Given the description of an element on the screen output the (x, y) to click on. 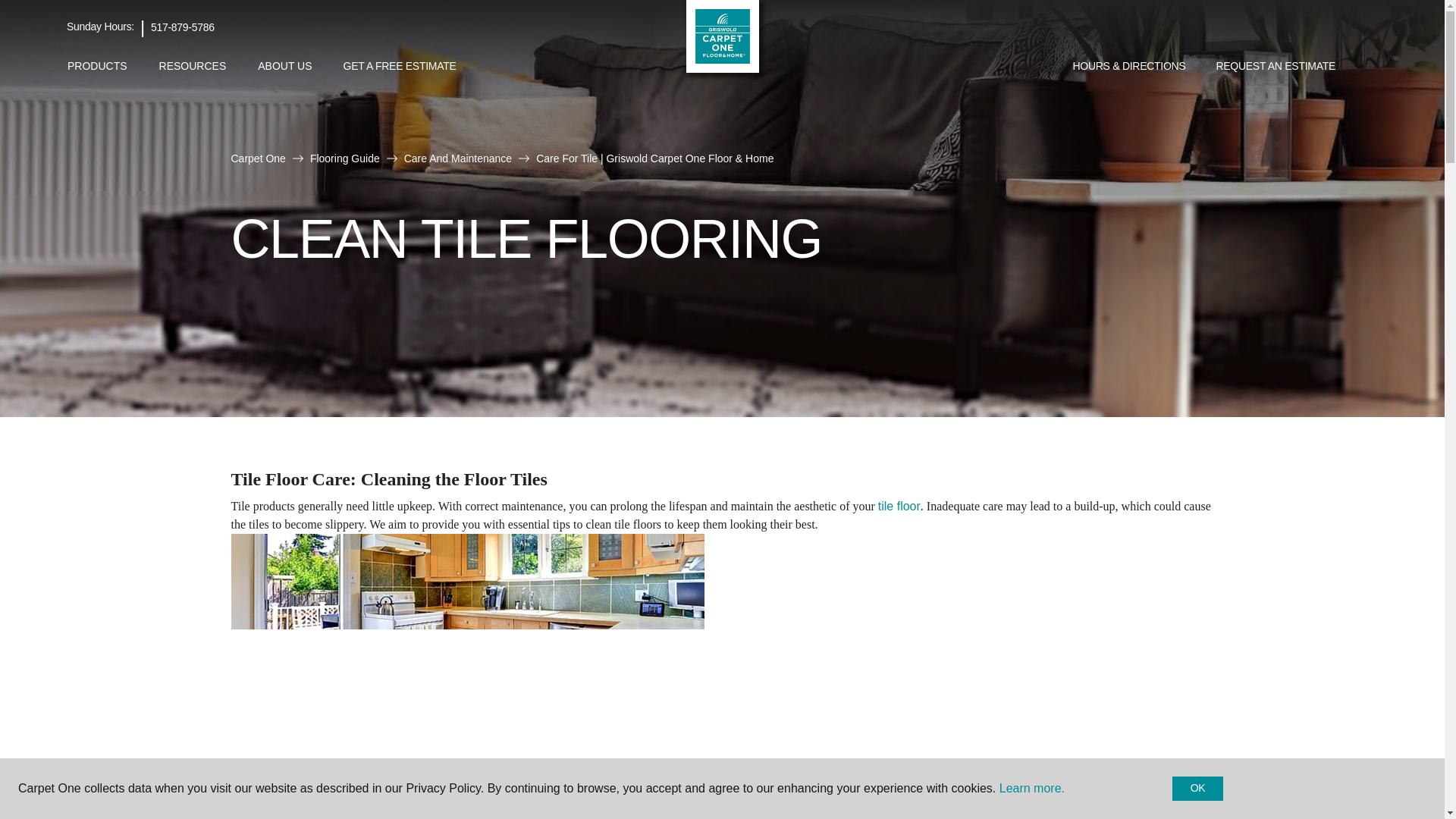
517-879-5786 (182, 27)
GET A FREE ESTIMATE (399, 66)
REQUEST AN ESTIMATE (1276, 66)
ABOUT US (284, 66)
RESOURCES (193, 66)
PRODUCTS (97, 66)
